Given the description of an element on the screen output the (x, y) to click on. 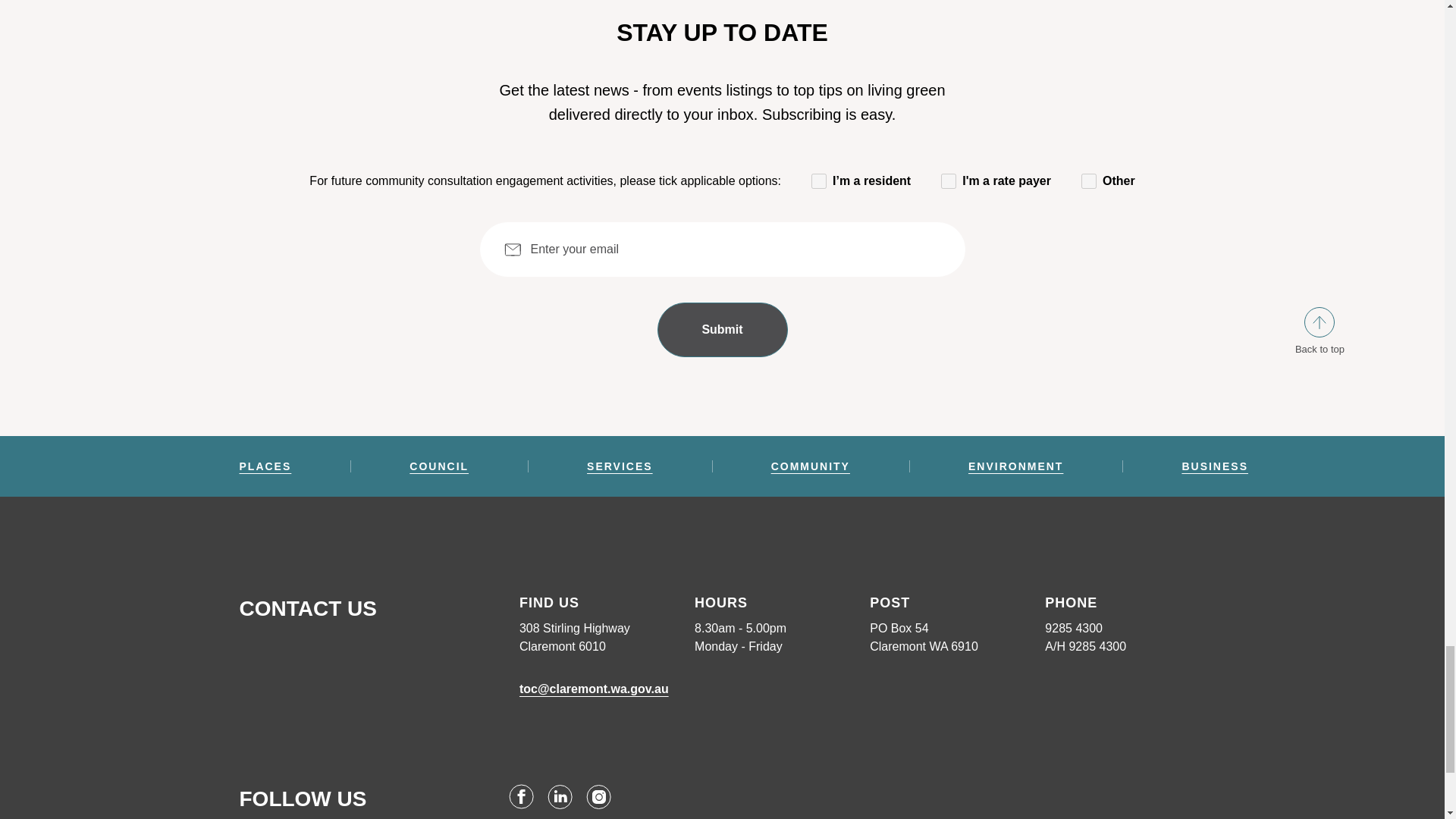
Other (1088, 181)
Linkedin (559, 796)
Facebook (521, 796)
Instagram (598, 796)
Submit (721, 329)
I'm a rate payer (948, 181)
